Given the description of an element on the screen output the (x, y) to click on. 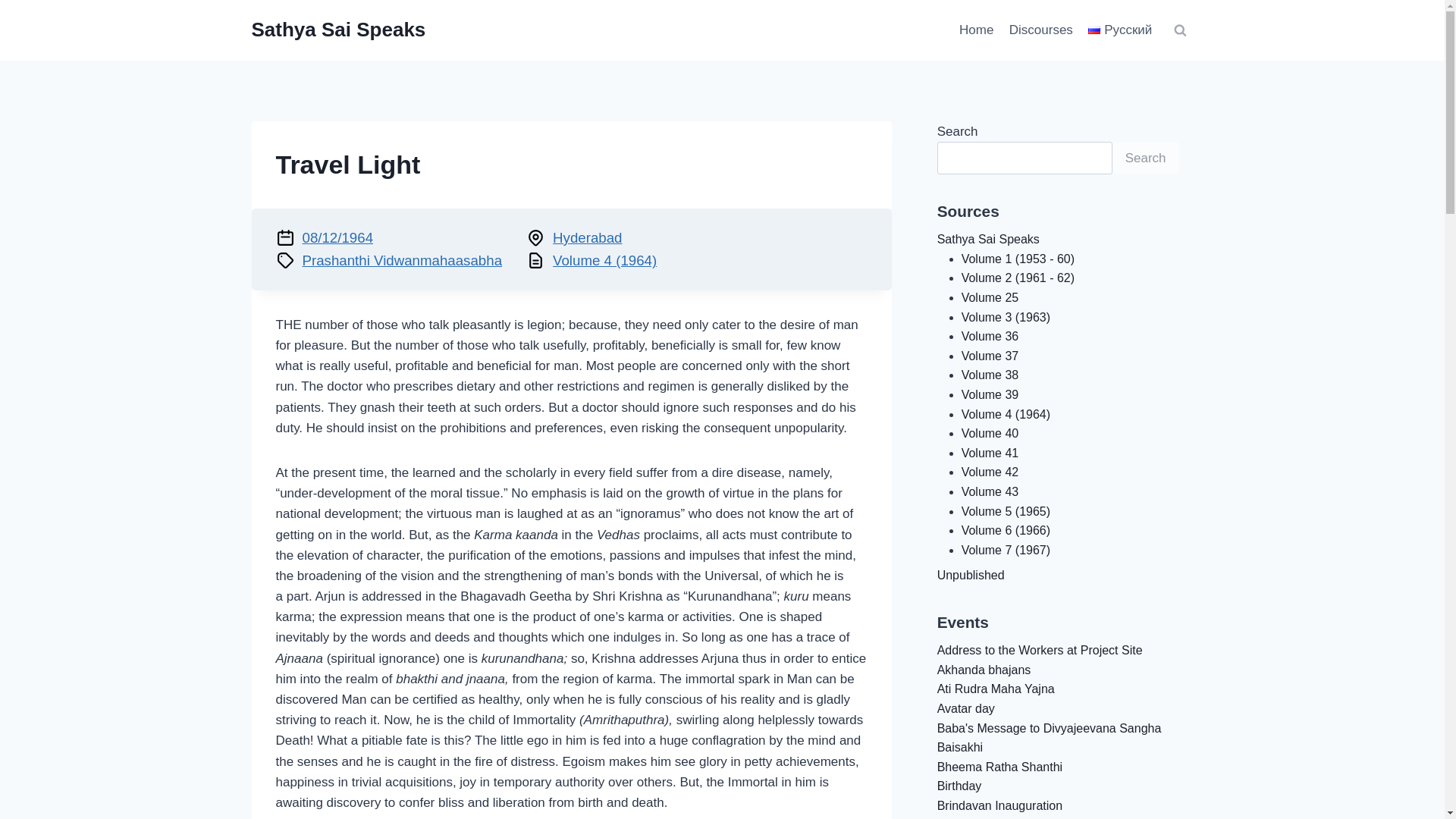
Prashanthi Vidwanmahaasabha (401, 260)
Baisakhi (959, 747)
Search (1145, 157)
Avatar day (965, 707)
Birthday (959, 785)
Sathya Sai Speaks (338, 29)
Sathya Sai Speaks (988, 238)
Volume 25 (989, 297)
Volume 43 (989, 491)
Akhanda bhajans (983, 669)
Volume 40 (989, 432)
Ati Rudra Maha Yajna (995, 688)
Bheema Ratha Shanthi (999, 766)
